Given the description of an element on the screen output the (x, y) to click on. 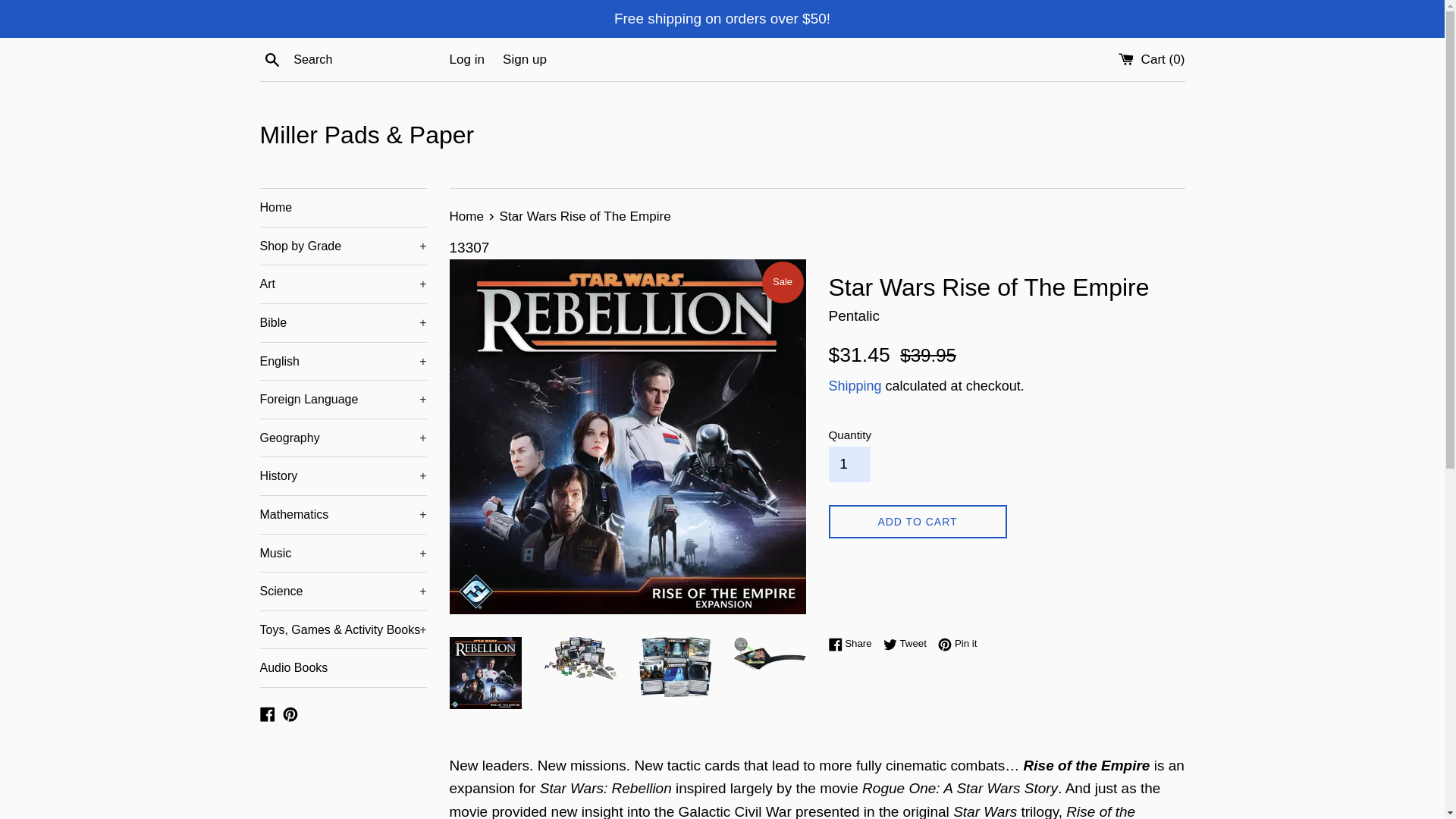
Back to the frontpage (467, 216)
Tweet on Twitter (908, 643)
Pin on Pinterest (956, 643)
Home (342, 207)
1 (848, 463)
Log in (466, 59)
Share on Facebook (853, 643)
Sign up (524, 59)
Search (271, 58)
